Given the description of an element on the screen output the (x, y) to click on. 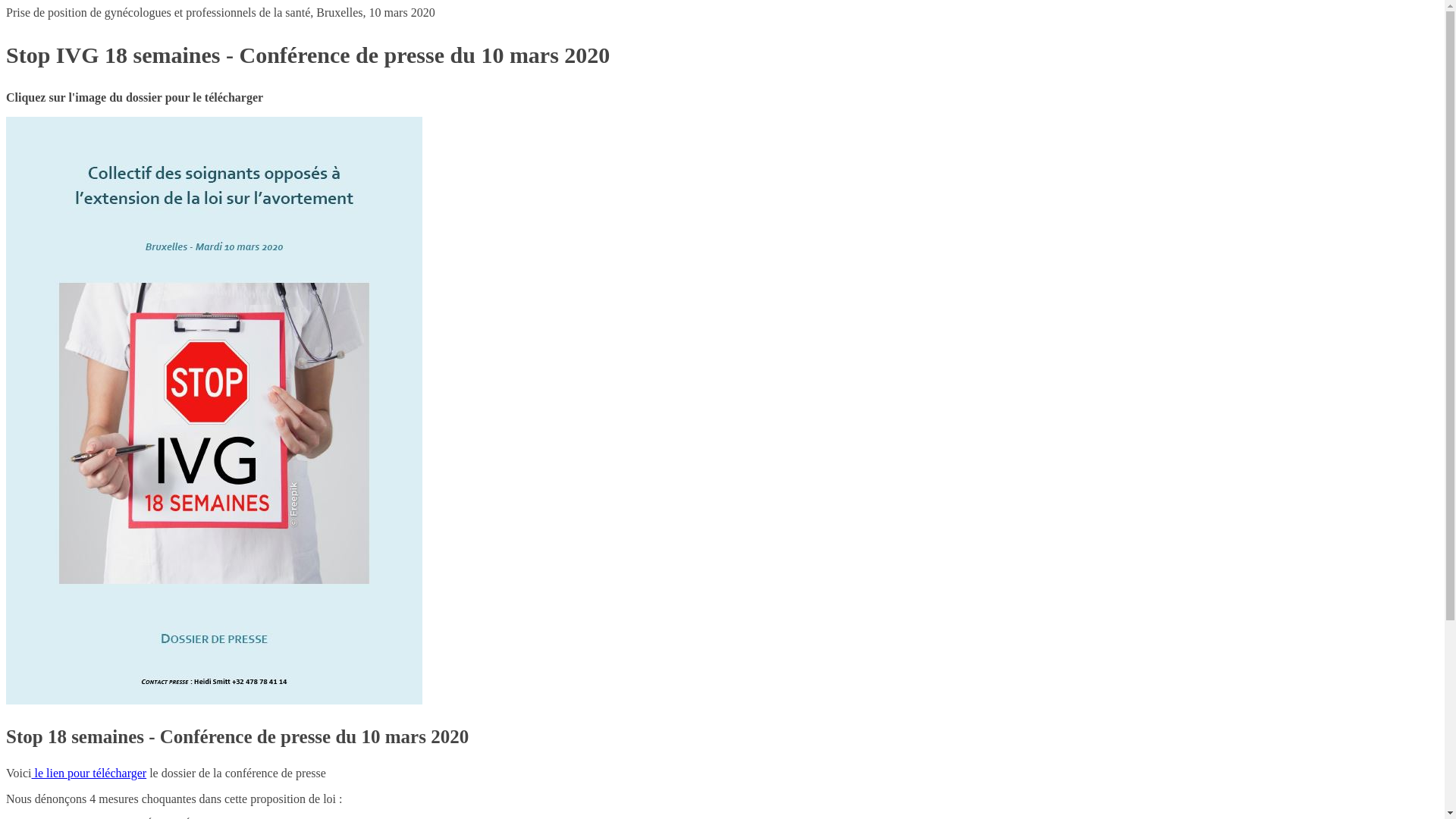
2020-03-10 Conference de presse IVG stop 18 semaines Element type: hover (214, 410)
